Given the description of an element on the screen output the (x, y) to click on. 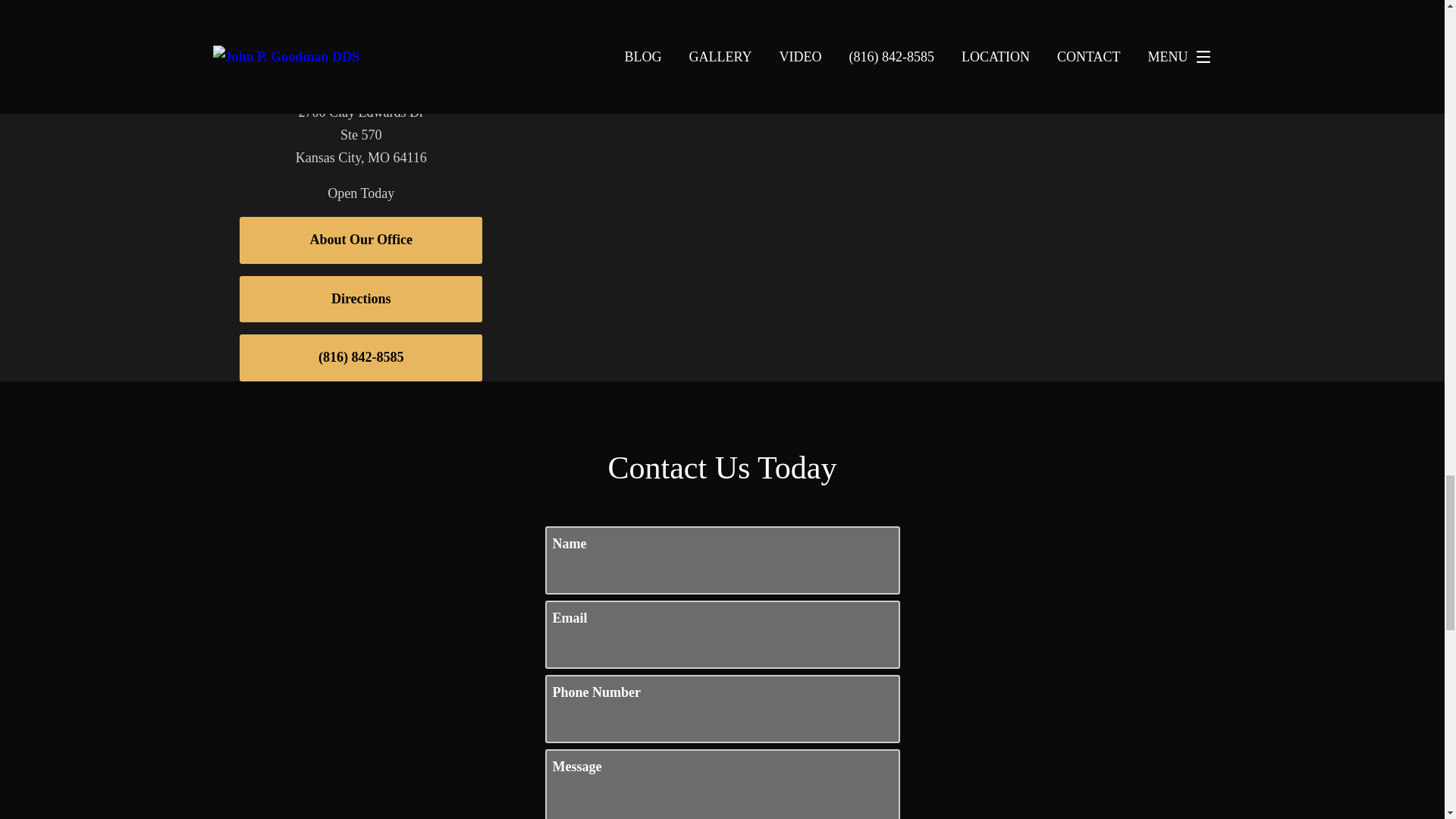
About Our Office (360, 240)
Kansas City Office (360, 79)
Locations (1022, 61)
Directions (360, 299)
